Given the description of an element on the screen output the (x, y) to click on. 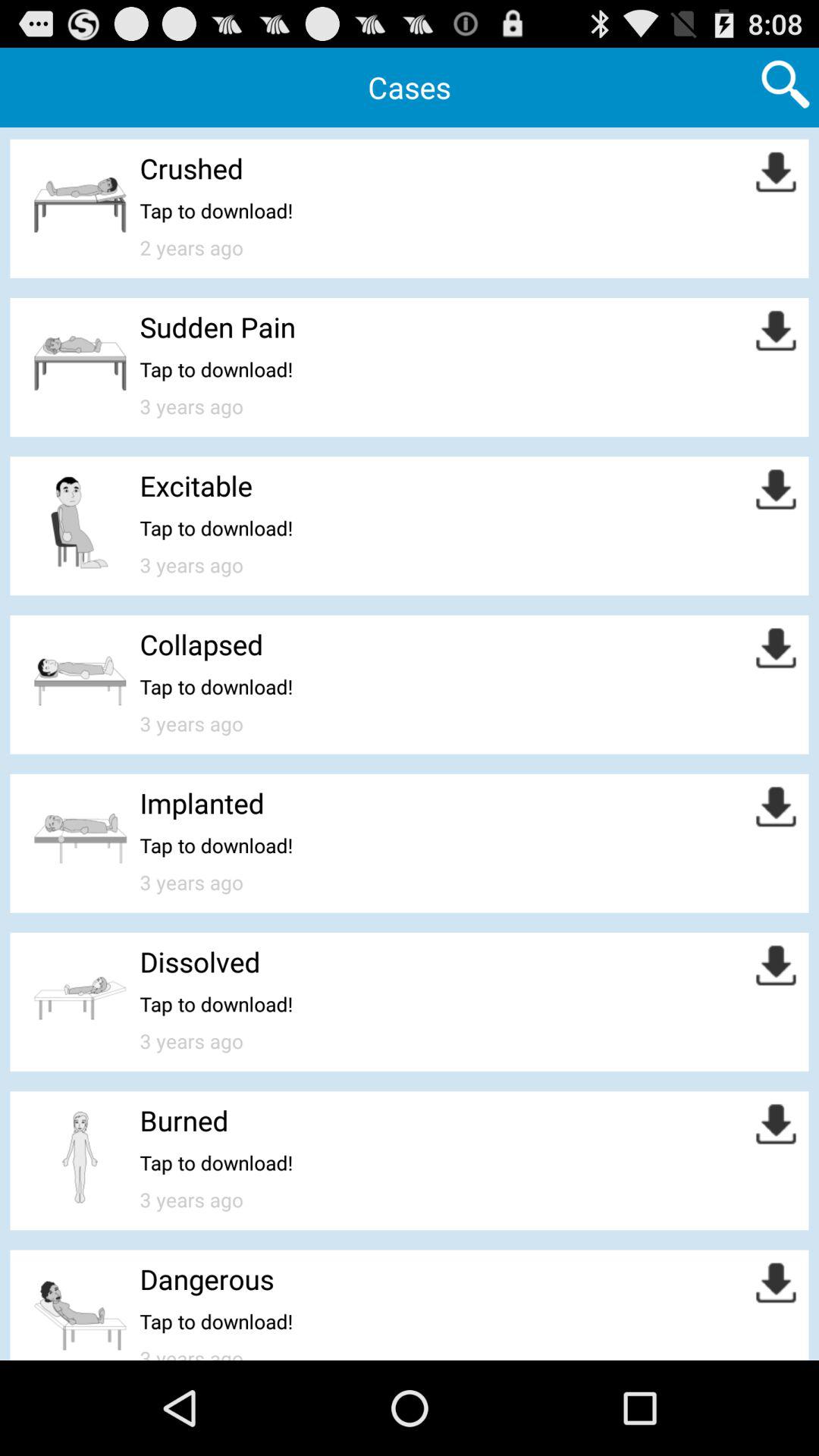
swipe to the collapsed app (201, 644)
